Given the description of an element on the screen output the (x, y) to click on. 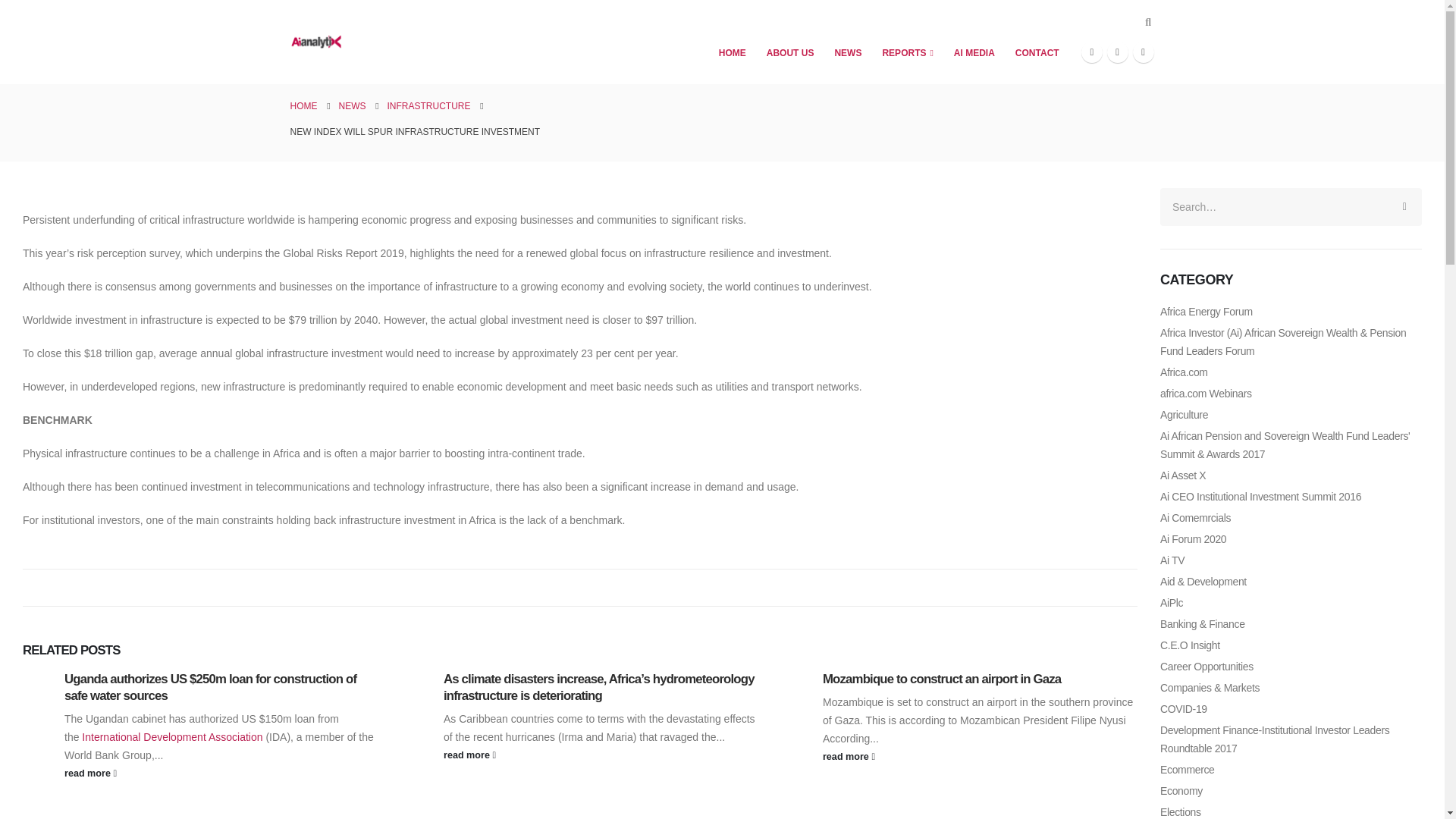
ABOUT US (790, 51)
Ai Analytix - Data Driven Investments (315, 42)
Go to Home Page (303, 106)
Youtube (1143, 52)
Twitter (1117, 52)
REPORTS (907, 51)
HOME (732, 51)
NEWS (847, 51)
Facebook (1091, 52)
